Given the description of an element on the screen output the (x, y) to click on. 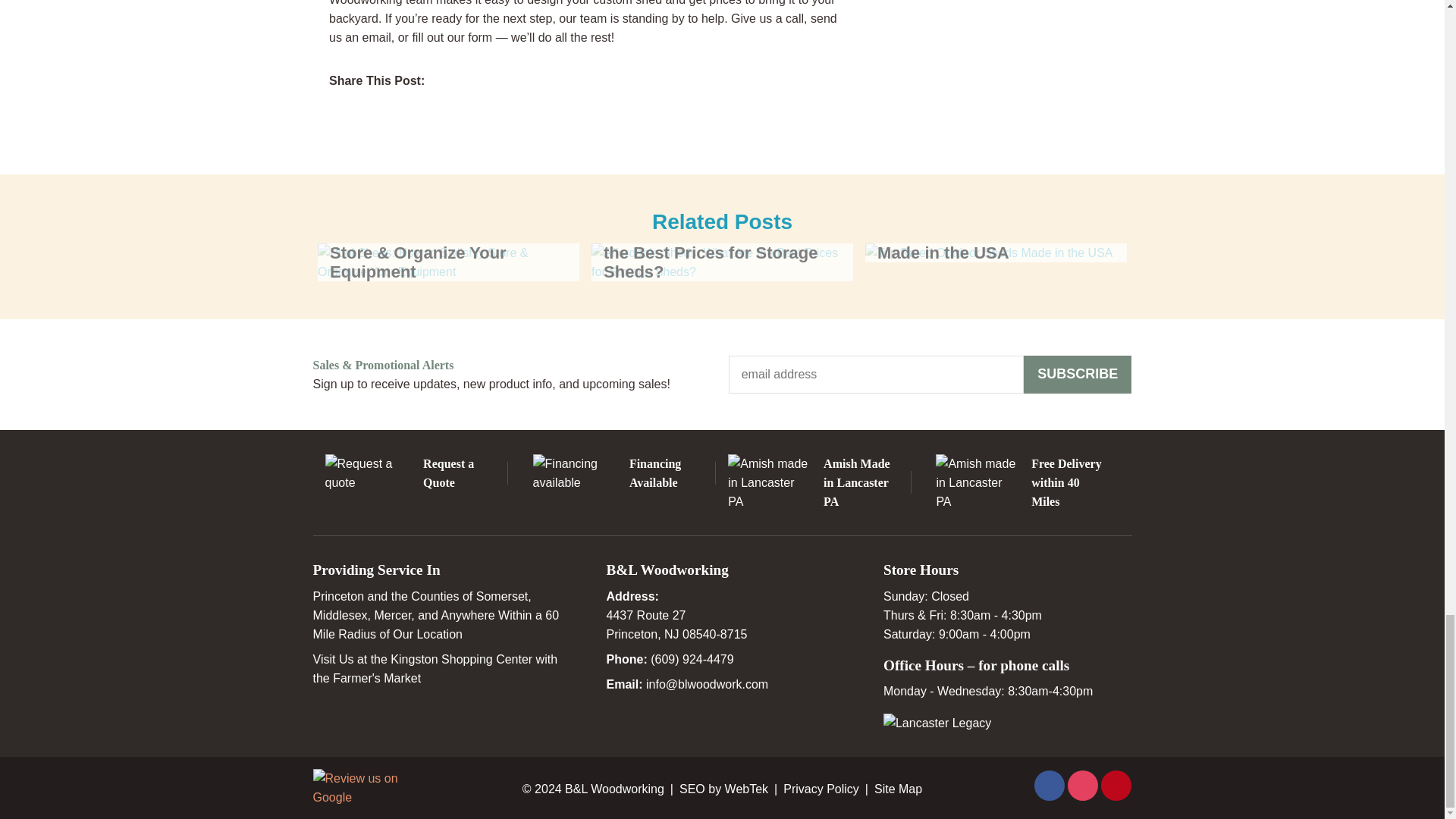
Top Rated Outdoor Sheds Made in the USA (995, 252)
Subscribe (1077, 374)
